Given the description of an element on the screen output the (x, y) to click on. 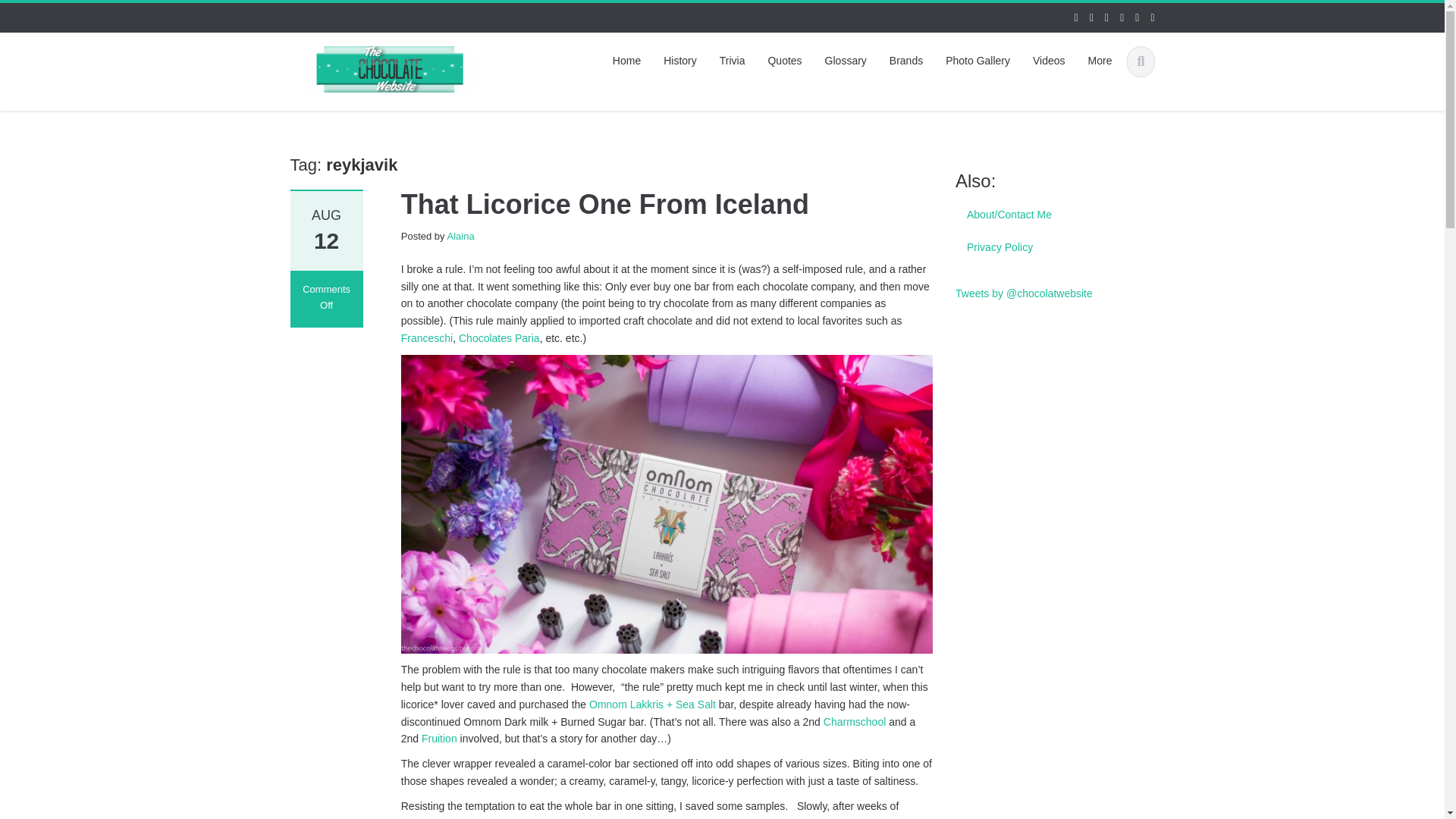
Home (626, 60)
Alaina (460, 235)
Franceschi (426, 337)
Quotes (783, 60)
Fruition (439, 738)
History (679, 60)
More (1100, 60)
The Chocolate Website (390, 66)
Chocolates Paria (499, 337)
Brands (905, 60)
